Given the description of an element on the screen output the (x, y) to click on. 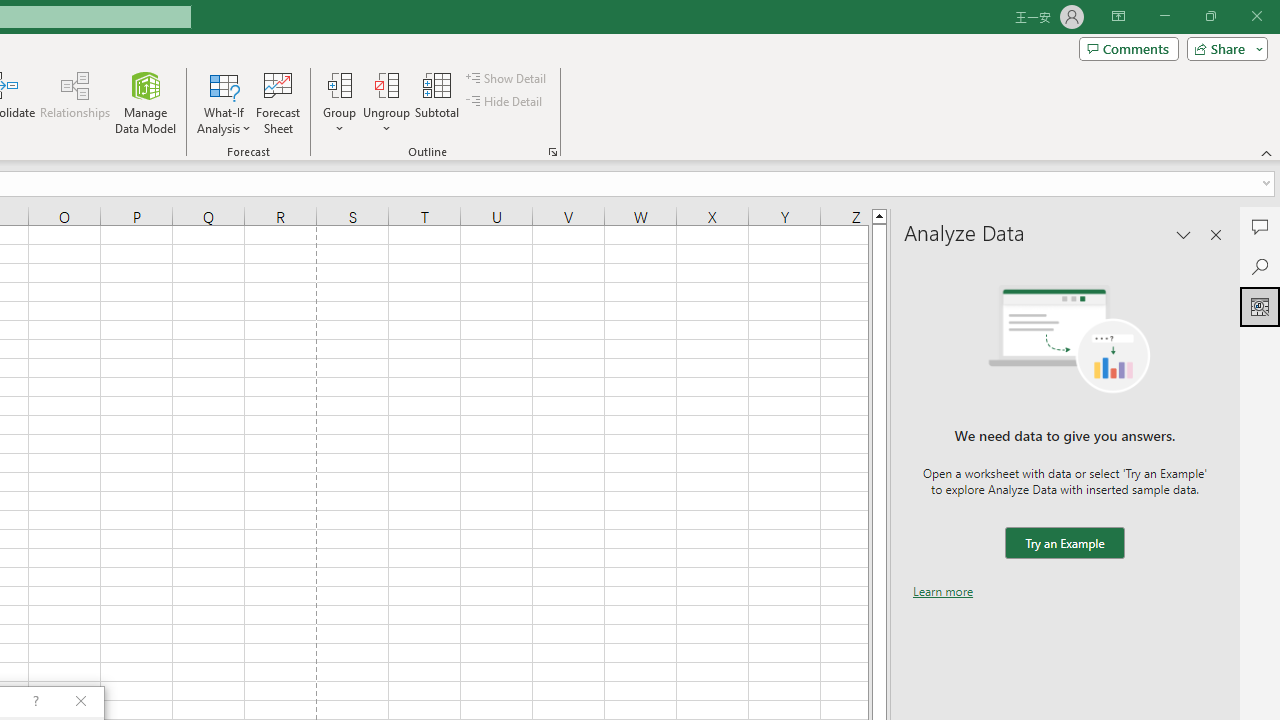
Close pane (1215, 234)
Group... (339, 84)
Analyze Data (1260, 306)
Group and Outline Settings (552, 151)
More Options (386, 121)
What-If Analysis (223, 102)
Comments (1128, 48)
We need data to give you answers. Try an Example (1064, 543)
Share (1223, 48)
Hide Detail (505, 101)
Search (1260, 266)
Ungroup... (386, 102)
Line up (879, 215)
Forecast Sheet (278, 102)
